Given the description of an element on the screen output the (x, y) to click on. 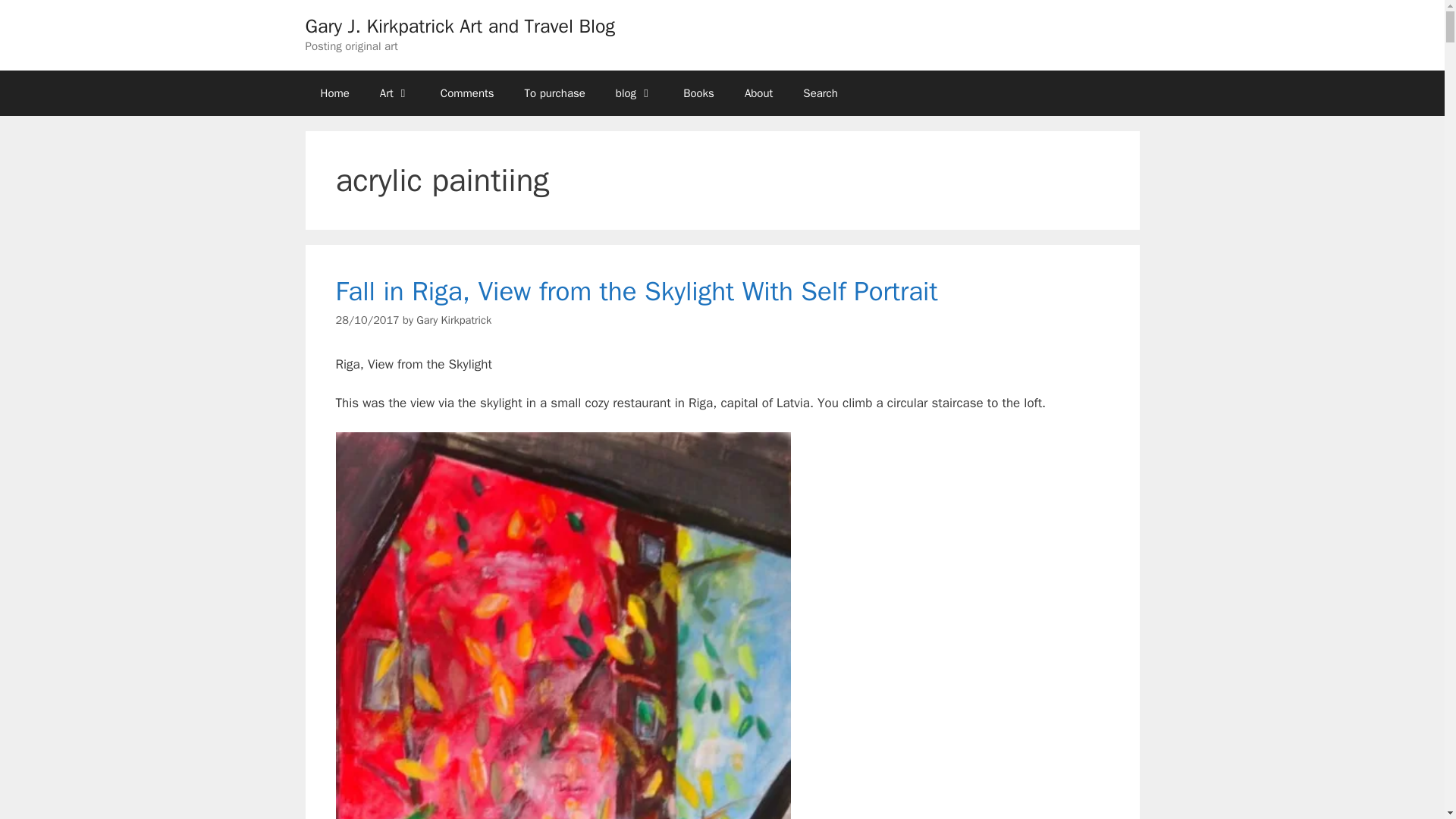
Comments (467, 92)
To purchase (554, 92)
blog (633, 92)
Art (395, 92)
Gary J. Kirkpatrick Art and Travel Blog (459, 25)
Home (334, 92)
View all posts by Gary Kirkpatrick (454, 319)
